Given the description of an element on the screen output the (x, y) to click on. 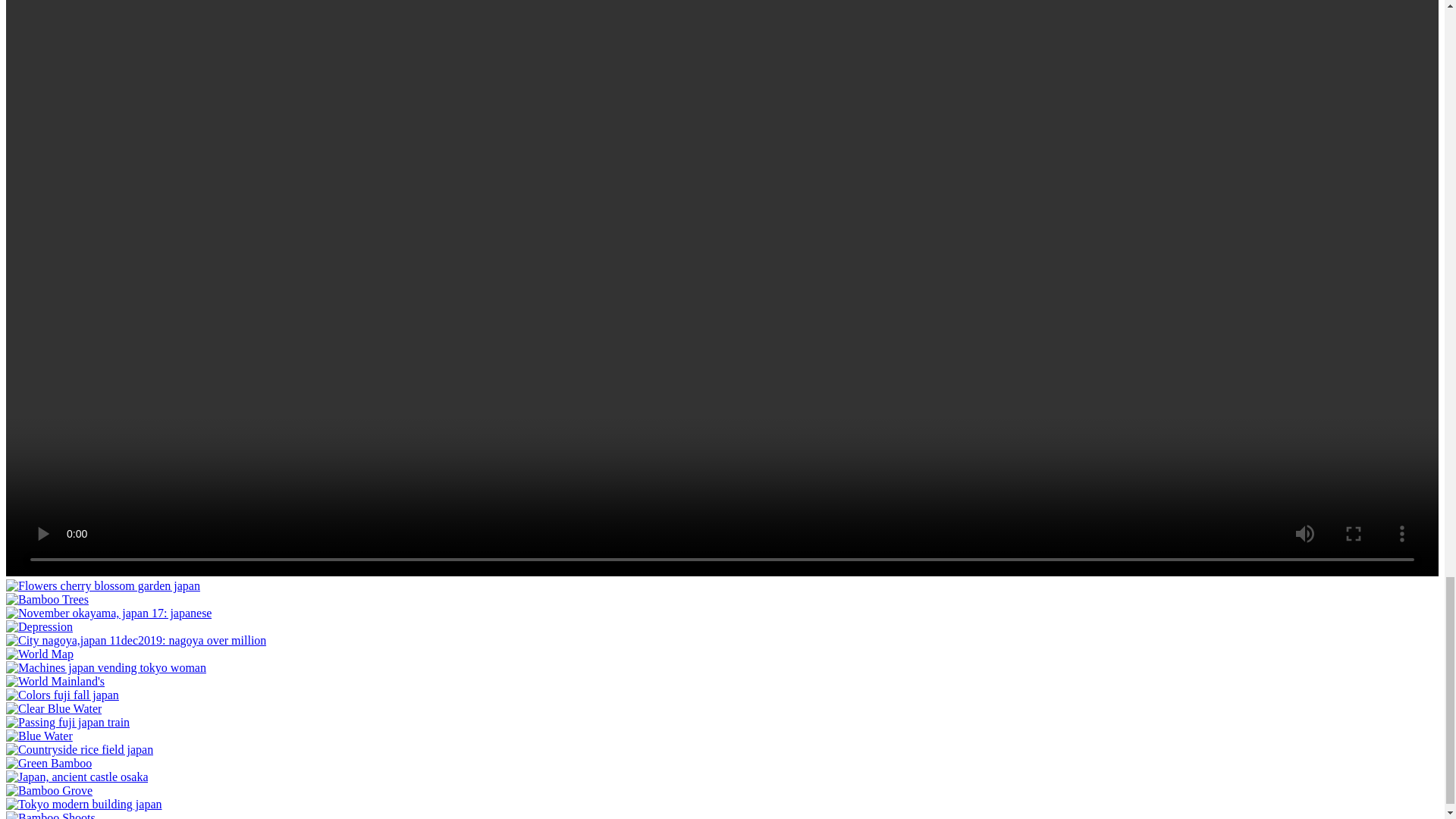
Flowers cherry blossom garden japan (102, 585)
November okayama, japan 17: japanese (108, 612)
Depression (38, 626)
Bamboo Trees (46, 599)
